Given the description of an element on the screen output the (x, y) to click on. 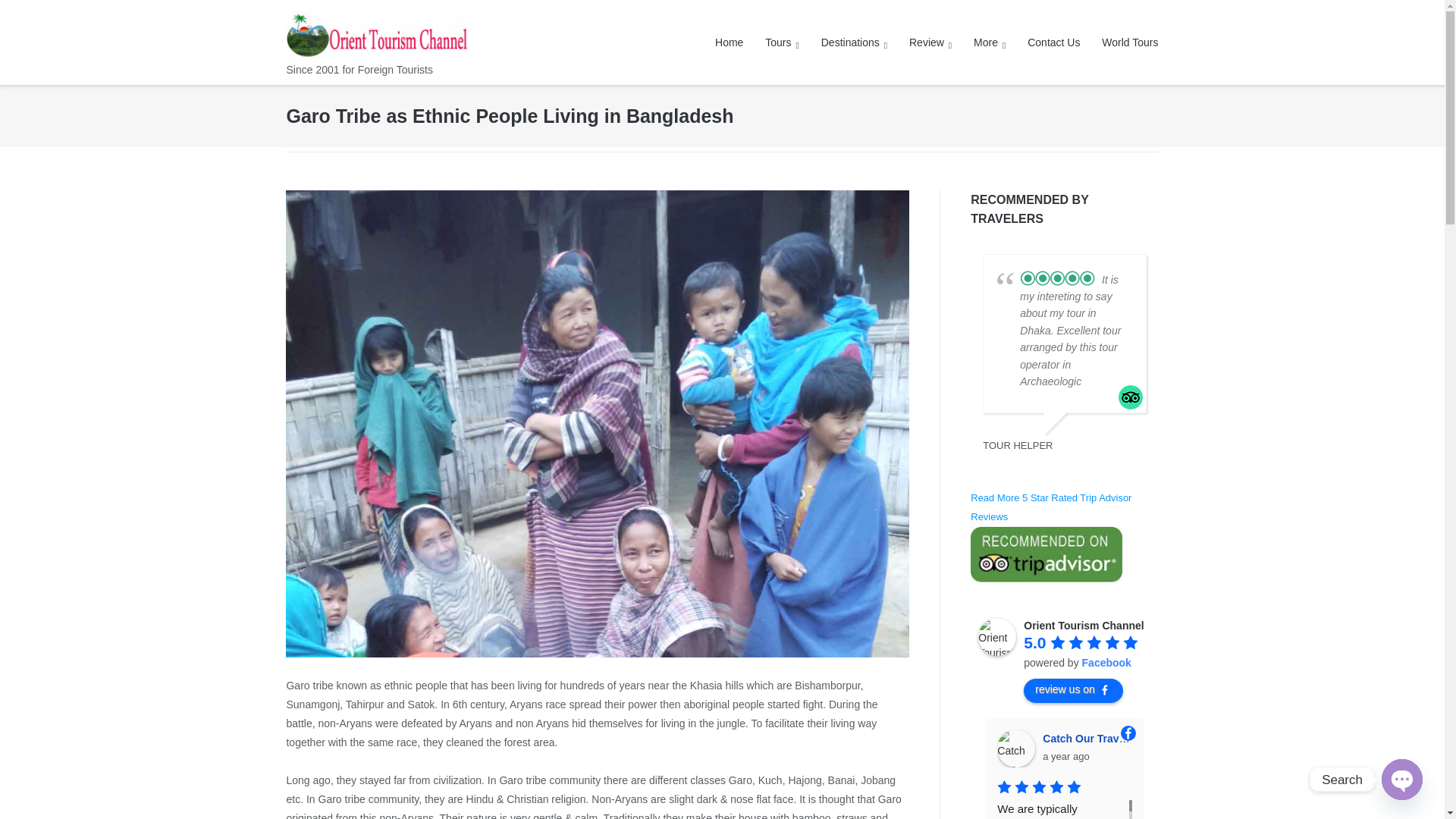
Orient Tourism Channel (997, 637)
Catch Our Travel Bug (1016, 748)
